Given the description of an element on the screen output the (x, y) to click on. 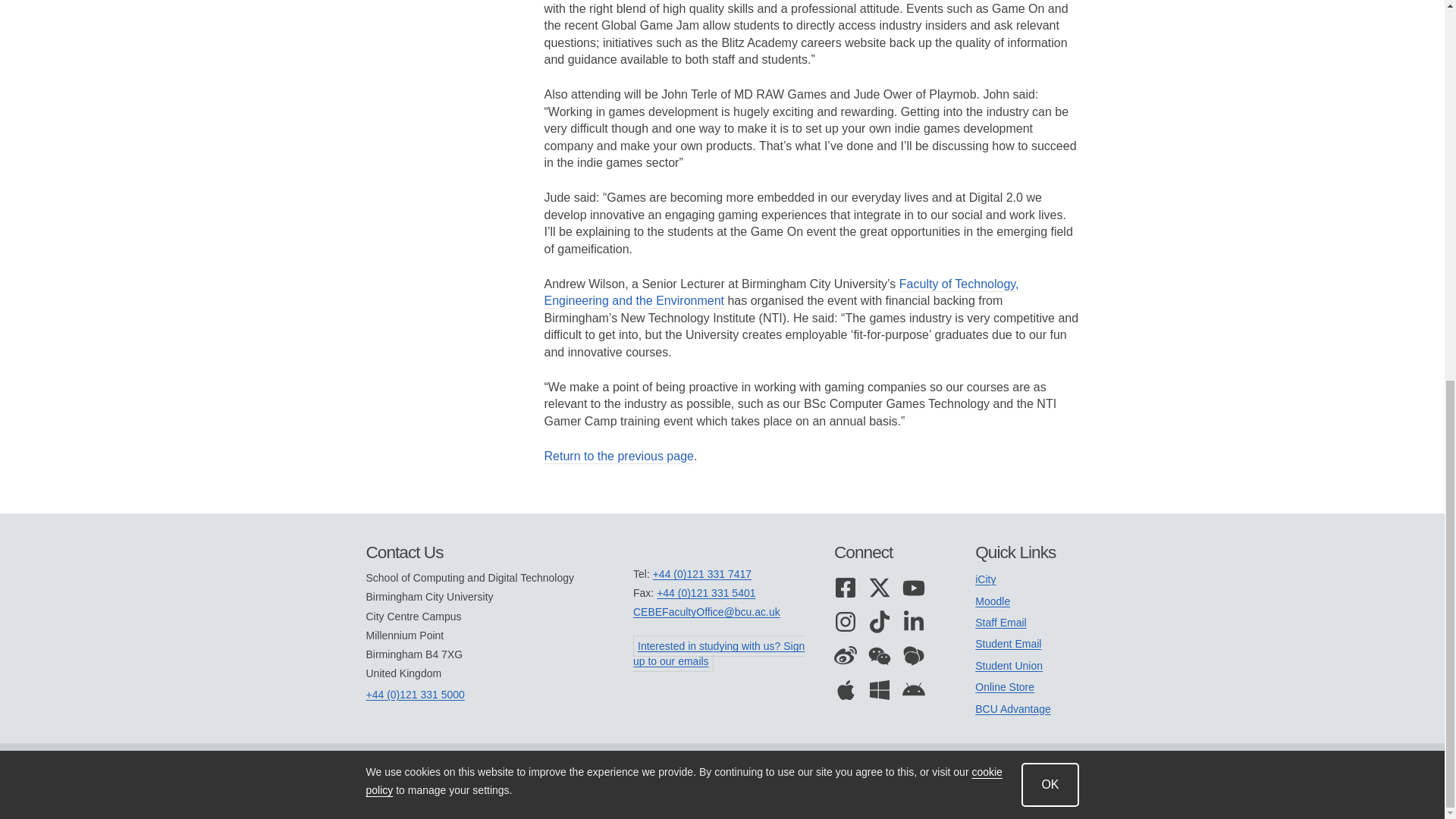
Connect with us (889, 552)
OK (1050, 76)
cookie policy (683, 72)
Contact Us (499, 552)
Quick Links (1026, 552)
